Given the description of an element on the screen output the (x, y) to click on. 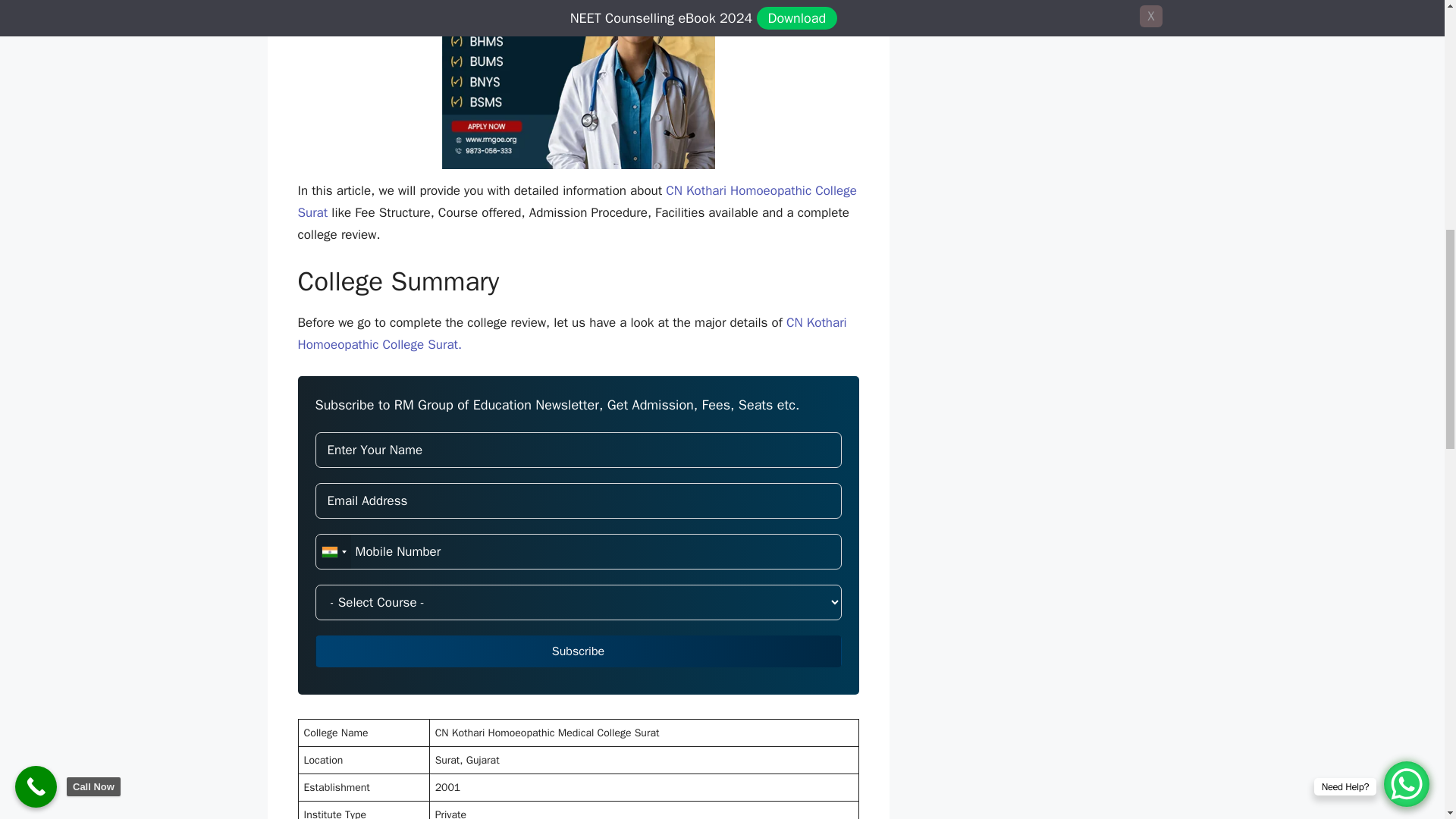
Subscribe (578, 651)
CN Kothari Homoeopathic College Surat (576, 201)
 CN Kothari Homoeopathic College Surat. (571, 333)
